Given the description of an element on the screen output the (x, y) to click on. 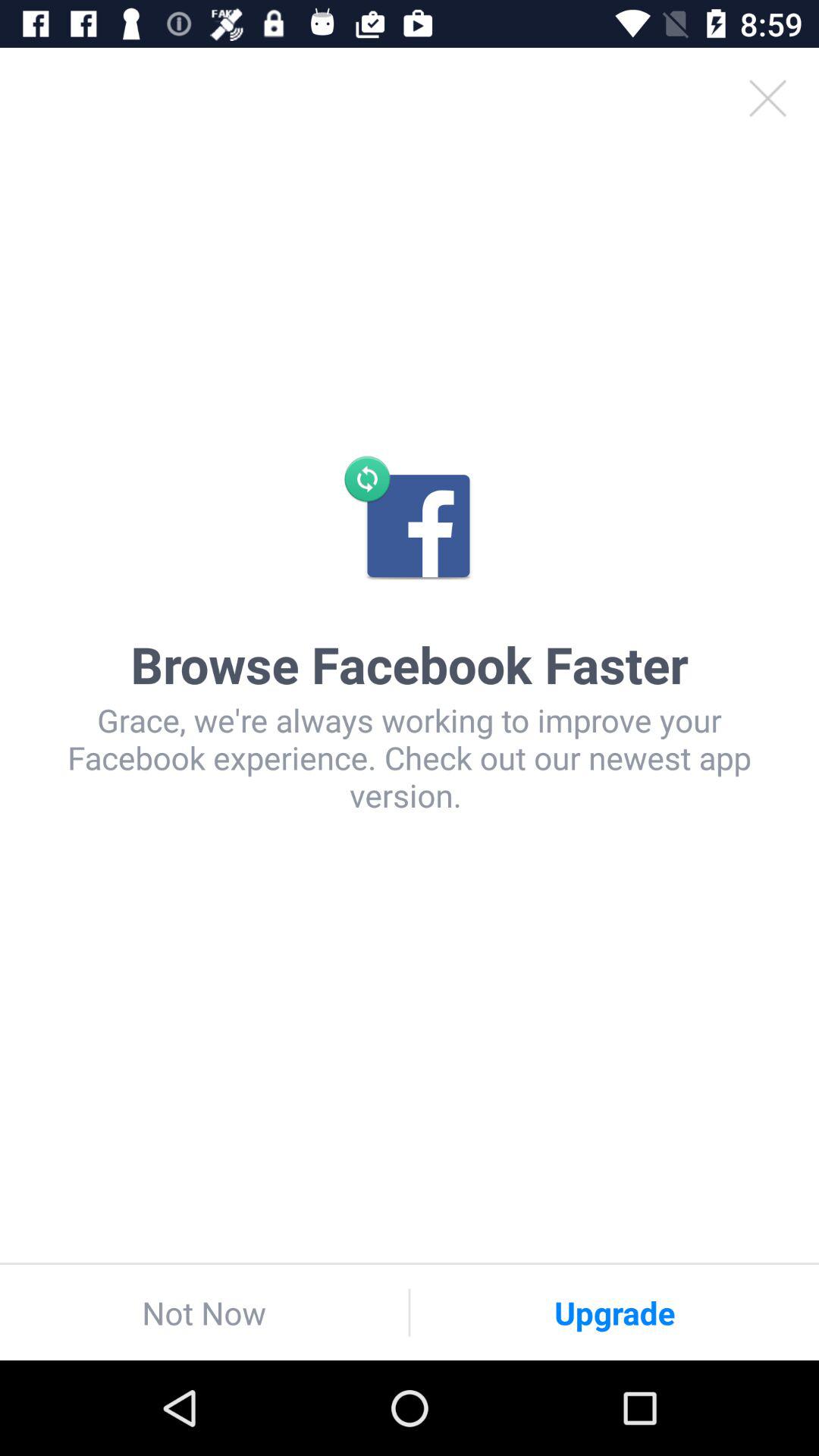
turn on the item at the bottom right corner (614, 1312)
